Given the description of an element on the screen output the (x, y) to click on. 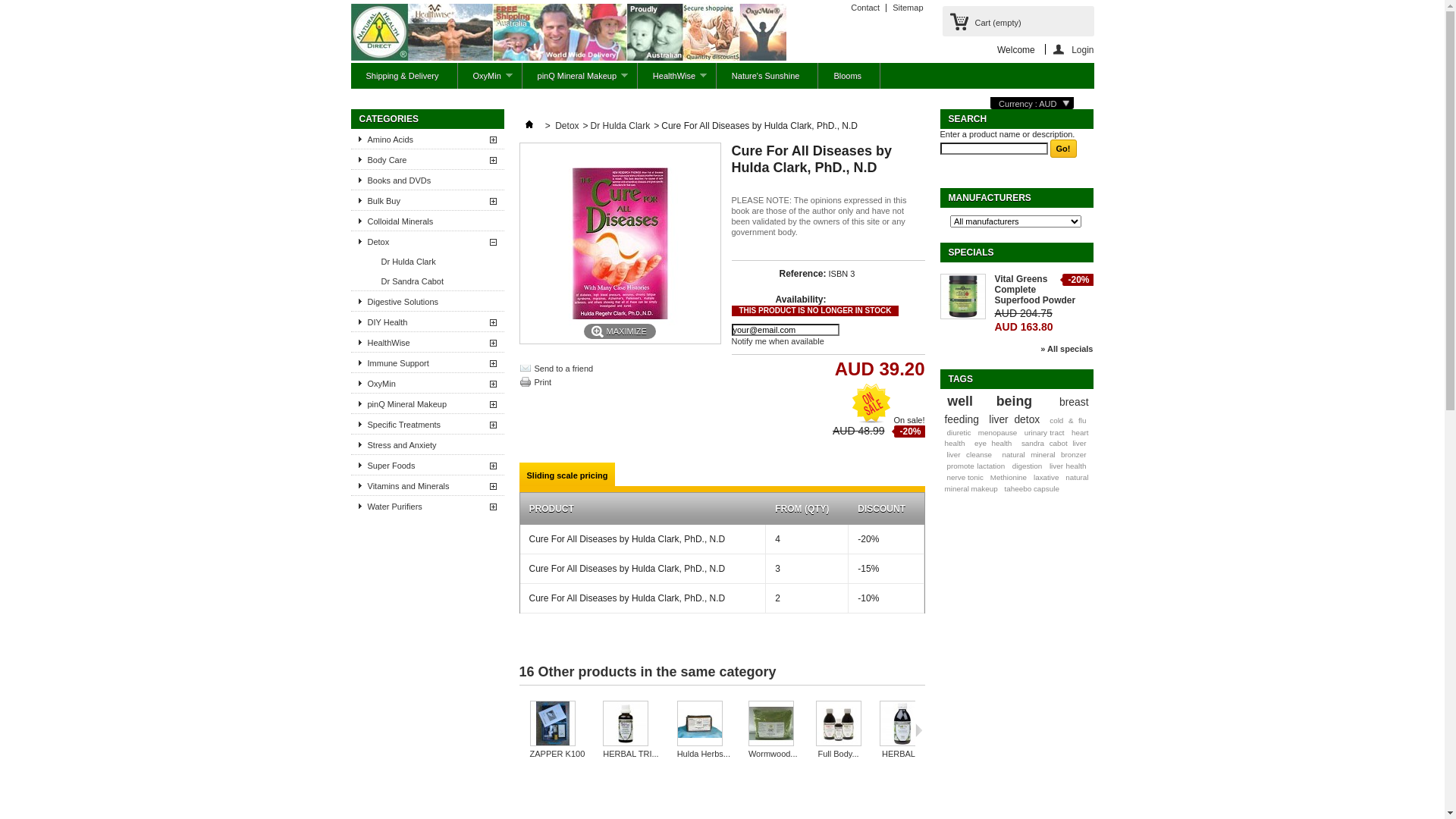
Dr Sandra Cabot Element type: text (441, 280)
nerve tonic Element type: text (964, 477)
Hulda Herbs Ground Cloves 200g Element type: hover (703, 724)
Full Body... Element type: text (837, 753)
HERBAL FLUID PLEX 200mL Element type: hover (902, 724)
urinary tract Element type: text (1044, 431)
Send to a friend Element type: text (563, 368)
Print Element type: text (542, 381)
menopause Element type: text (997, 431)
Digestive Solutions Element type: text (426, 300)
Vital Greens Complete Superfood Powder Element type: text (1043, 289)
HERBAL TRI PLEX 50mL Element type: hover (630, 724)
Dr Hulda Clark Element type: text (620, 125)
Vital Greens Complete Superfood Powder Element type: hover (962, 296)
Sitemap Element type: text (907, 7)
Full Body Detox Program - 15% Discount! Element type: hover (838, 724)
Body Care Element type: text (426, 159)
Vitamins and Minerals Element type: text (426, 485)
eye health Element type: text (992, 442)
ZAPPER K100 Element type: text (556, 753)
Wormwood... Element type: text (772, 753)
Specific Treatments Element type: text (426, 423)
Super Foods Element type: text (426, 464)
Notify me when available Element type: text (777, 340)
HERBAL TRI... Element type: text (630, 753)
NATURAL HEALTH DIRECT Element type: hover (567, 32)
liver health Element type: text (1068, 465)
Blooms Element type: text (848, 75)
natural mineral bronzer Element type: text (1044, 454)
Cure For All Diseases by Hulda Clark, PhD., N.D Element type: hover (619, 243)
OxyMin Element type: text (426, 382)
Immune Support Element type: text (426, 362)
Amino Acids Element type: text (426, 138)
your@email.com Element type: text (784, 329)
sandra cabot liver Element type: text (1053, 442)
Sliding scale pricing Element type: text (566, 474)
DIY Health Element type: text (426, 321)
Hulda Herbs... Element type: text (703, 753)
Cart (empty) Element type: text (1017, 21)
natural mineral makeup Element type: text (1016, 482)
pinQ Mineral Makeup Element type: text (426, 403)
Detox Element type: text (426, 241)
SPECIALS Element type: text (970, 252)
liver detox Element type: text (1014, 418)
Dr Hulda Clark Element type: text (441, 260)
Colloidal Minerals Element type: text (426, 220)
liver cleanse Element type: text (968, 454)
heart health Element type: text (1016, 437)
well being Element type: text (989, 401)
Login Element type: text (1068, 48)
digestion Element type: text (1027, 465)
cold & flu Element type: text (1067, 420)
breast feeding Element type: text (1016, 410)
Shipping & Delivery Element type: text (402, 75)
Return to Home Element type: hover (528, 125)
Nature's Sunshine Element type: text (766, 75)
diuretic Element type: text (958, 431)
Detox Element type: text (566, 125)
Wormwood Leaves 100g Element type: hover (772, 724)
Water Purifiers Element type: text (426, 505)
laxative Element type: text (1046, 477)
HealthWise Element type: text (426, 341)
MANUFACTURERS Element type: text (988, 197)
Go! Element type: text (1063, 148)
taheebo capsule Element type: text (1031, 488)
Contact Element type: text (864, 7)
Stress and Anxiety Element type: text (426, 444)
promote lactation Element type: text (975, 465)
HERBAL... Element type: text (901, 753)
ZAPPER K100 Element type: hover (556, 724)
Books and DVDs Element type: text (426, 179)
Next Element type: text (918, 730)
Methionine Element type: text (1008, 477)
Bulk Buy Element type: text (426, 200)
